Given the description of an element on the screen output the (x, y) to click on. 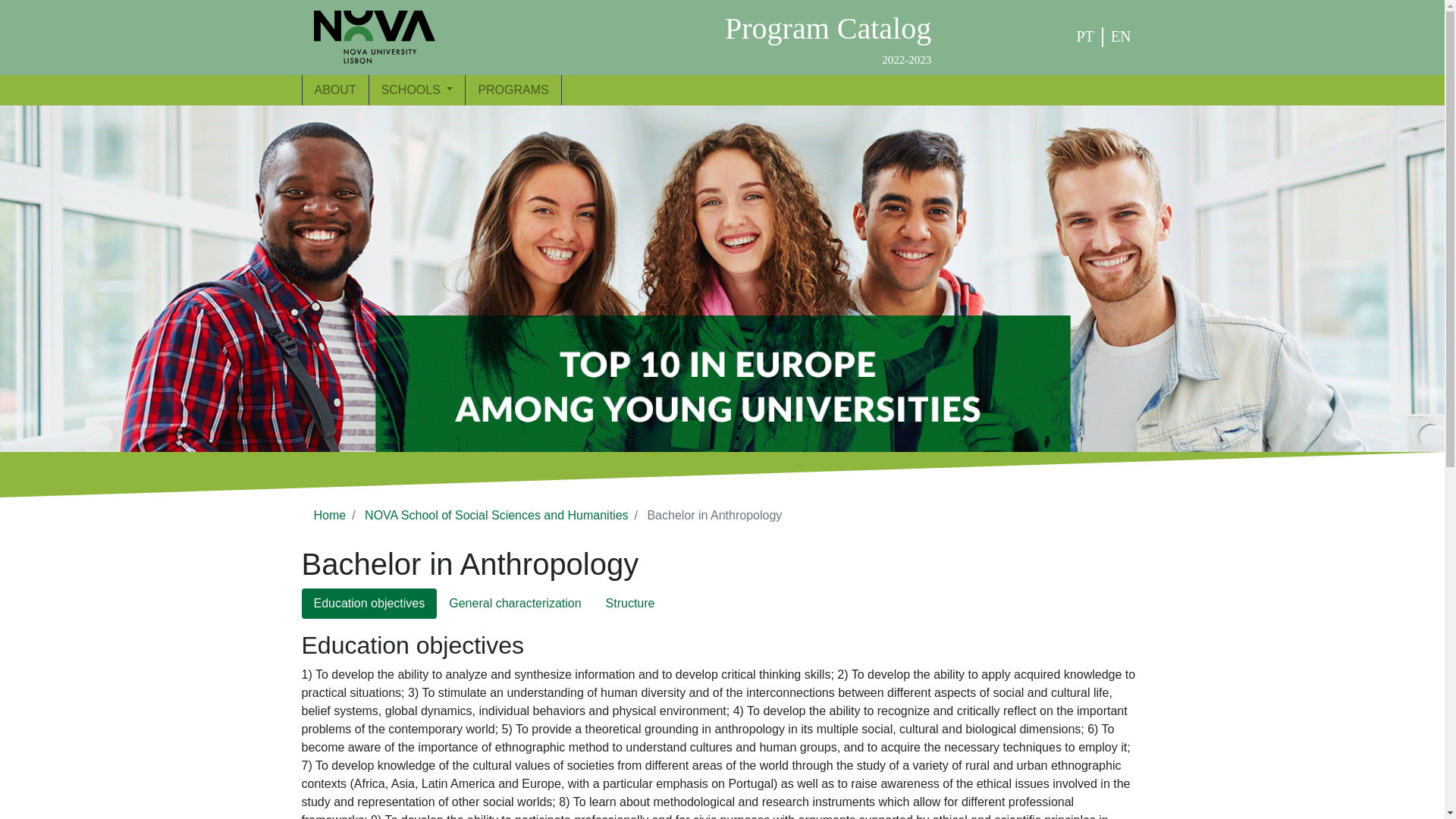
Home (330, 514)
Skip to main content (5, 5)
Education objectives (369, 603)
ABOUT (334, 89)
Structure (630, 603)
English (1120, 36)
General characterization (514, 603)
EN (1120, 36)
PROGRAMS (512, 89)
SCHOOLS (417, 89)
